Given the description of an element on the screen output the (x, y) to click on. 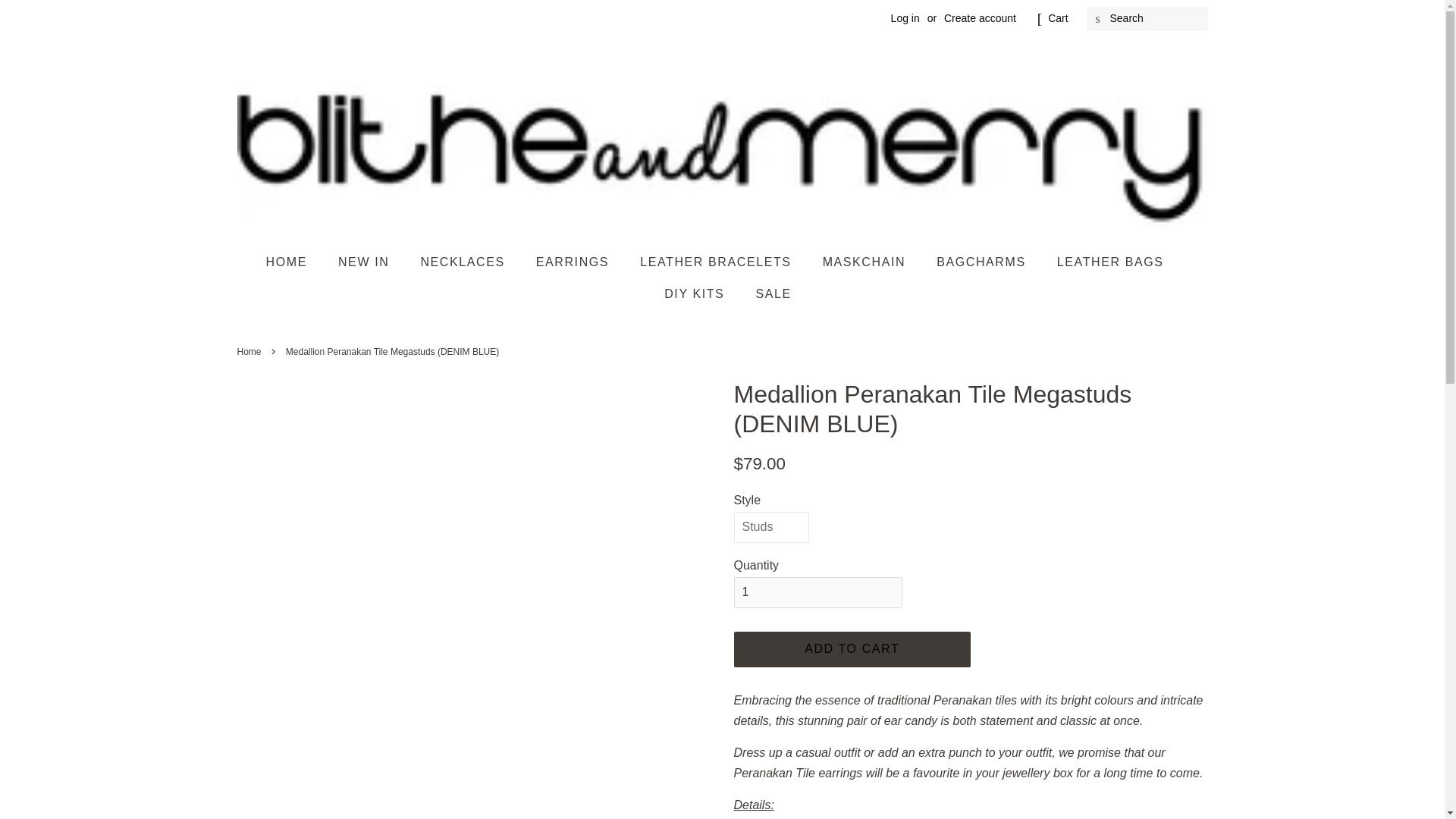
MASKCHAIN (865, 261)
NECKLACES (464, 261)
HOME (292, 261)
Back to the frontpage (249, 351)
NEW IN (365, 261)
Cart (1057, 18)
Log in (905, 18)
SEARCH (1097, 18)
EARRINGS (574, 261)
LEATHER BAGS (1112, 261)
BAGCHARMS (982, 261)
DIY KITS (695, 293)
1 (817, 592)
ADD TO CART (852, 649)
Home (249, 351)
